Given the description of an element on the screen output the (x, y) to click on. 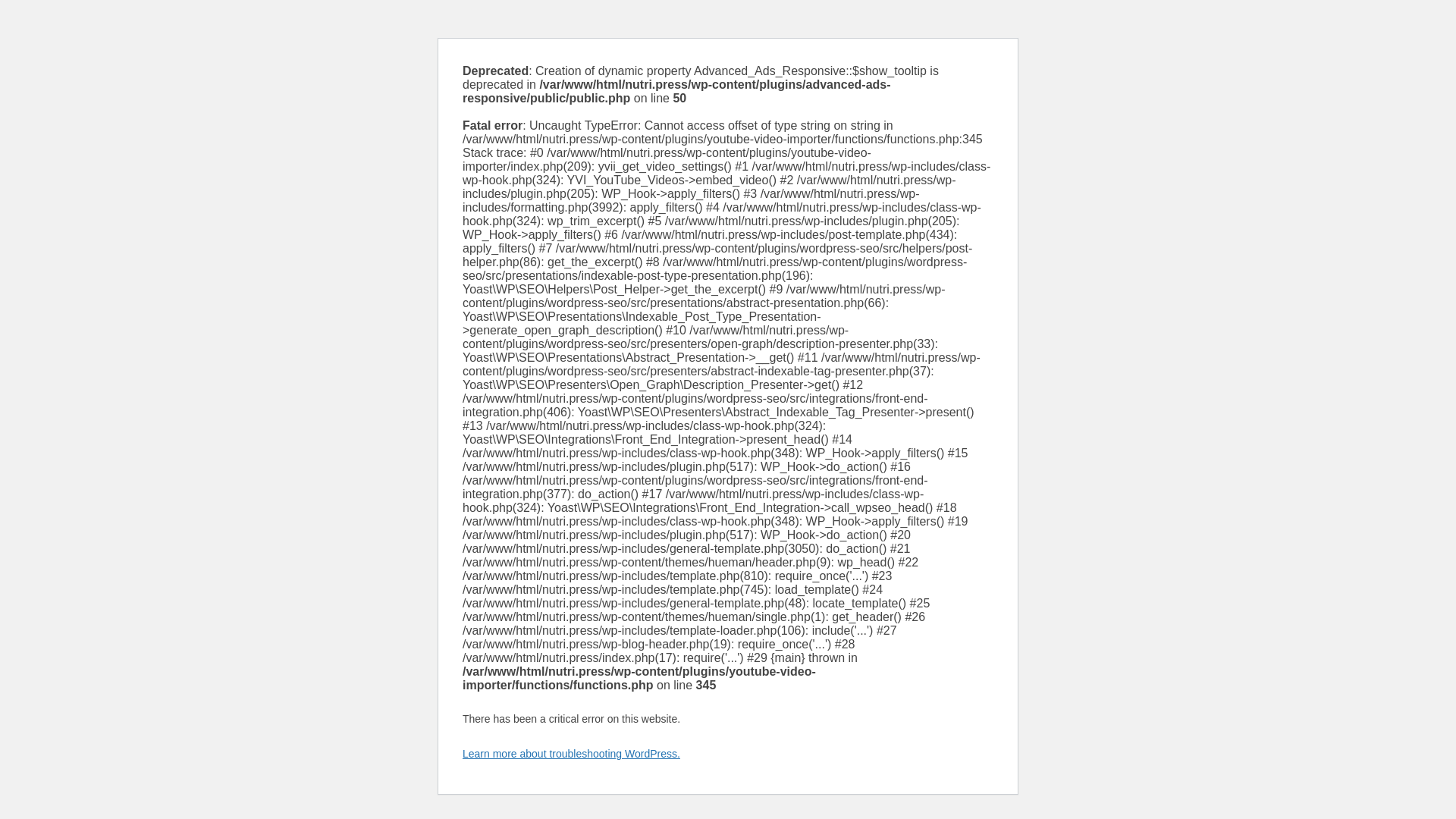
Learn more about troubleshooting WordPress. (571, 753)
